Given the description of an element on the screen output the (x, y) to click on. 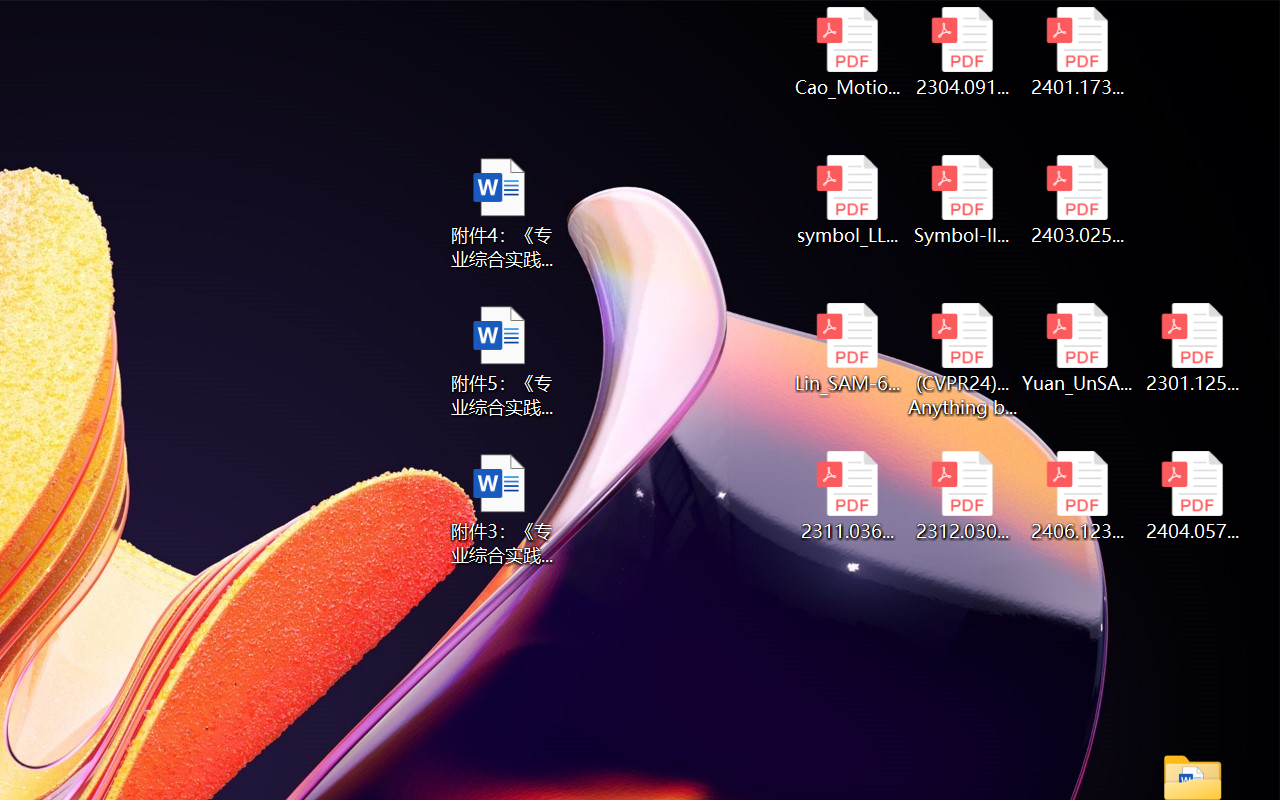
2403.02502v1.pdf (1077, 200)
